Given the description of an element on the screen output the (x, y) to click on. 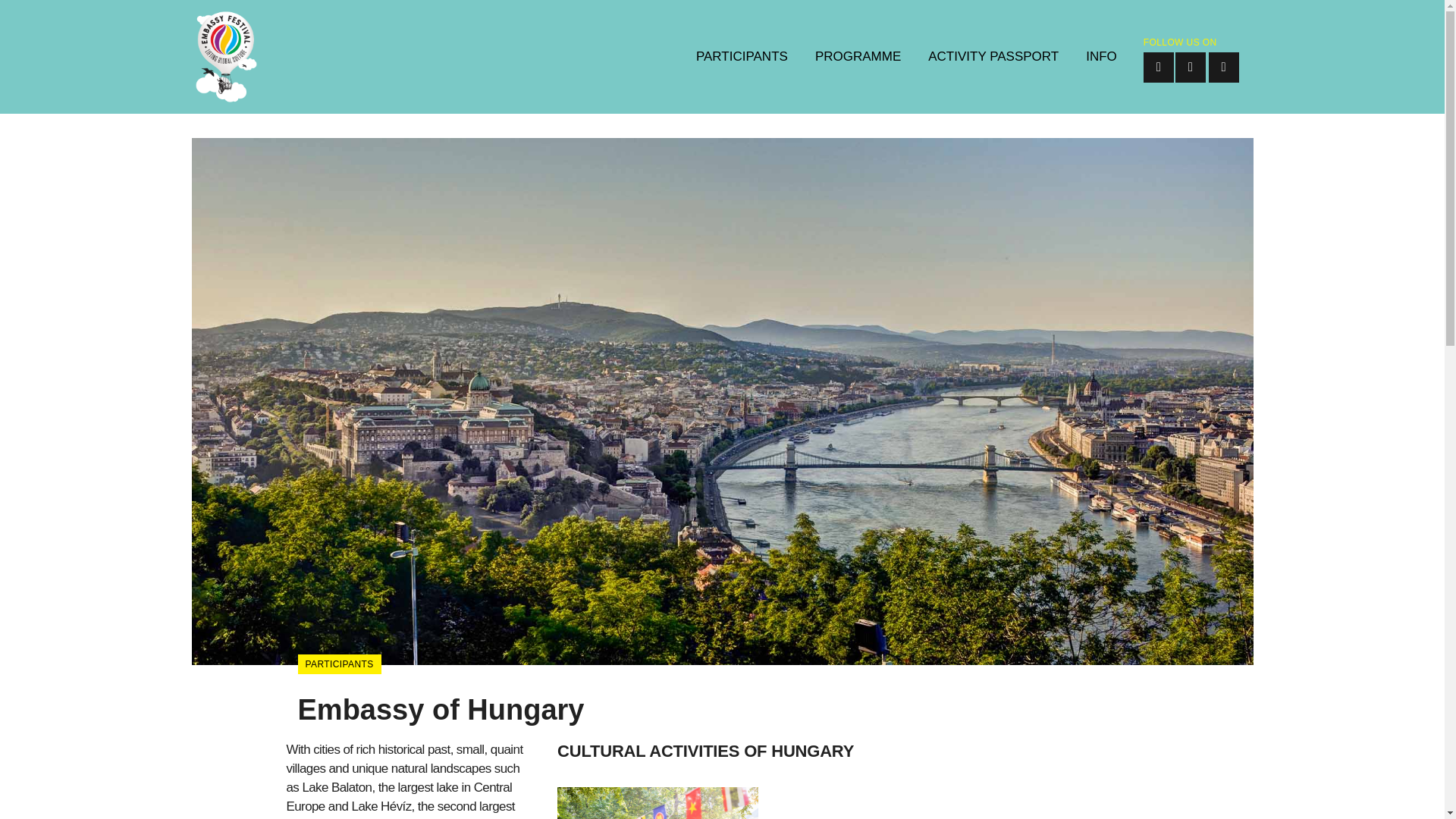
ACTIVITY PASSPORT (992, 56)
INFO (1101, 56)
PARTICIPANTS (742, 56)
PROGRAMME (858, 56)
PARTICIPANTS (338, 664)
